Given the description of an element on the screen output the (x, y) to click on. 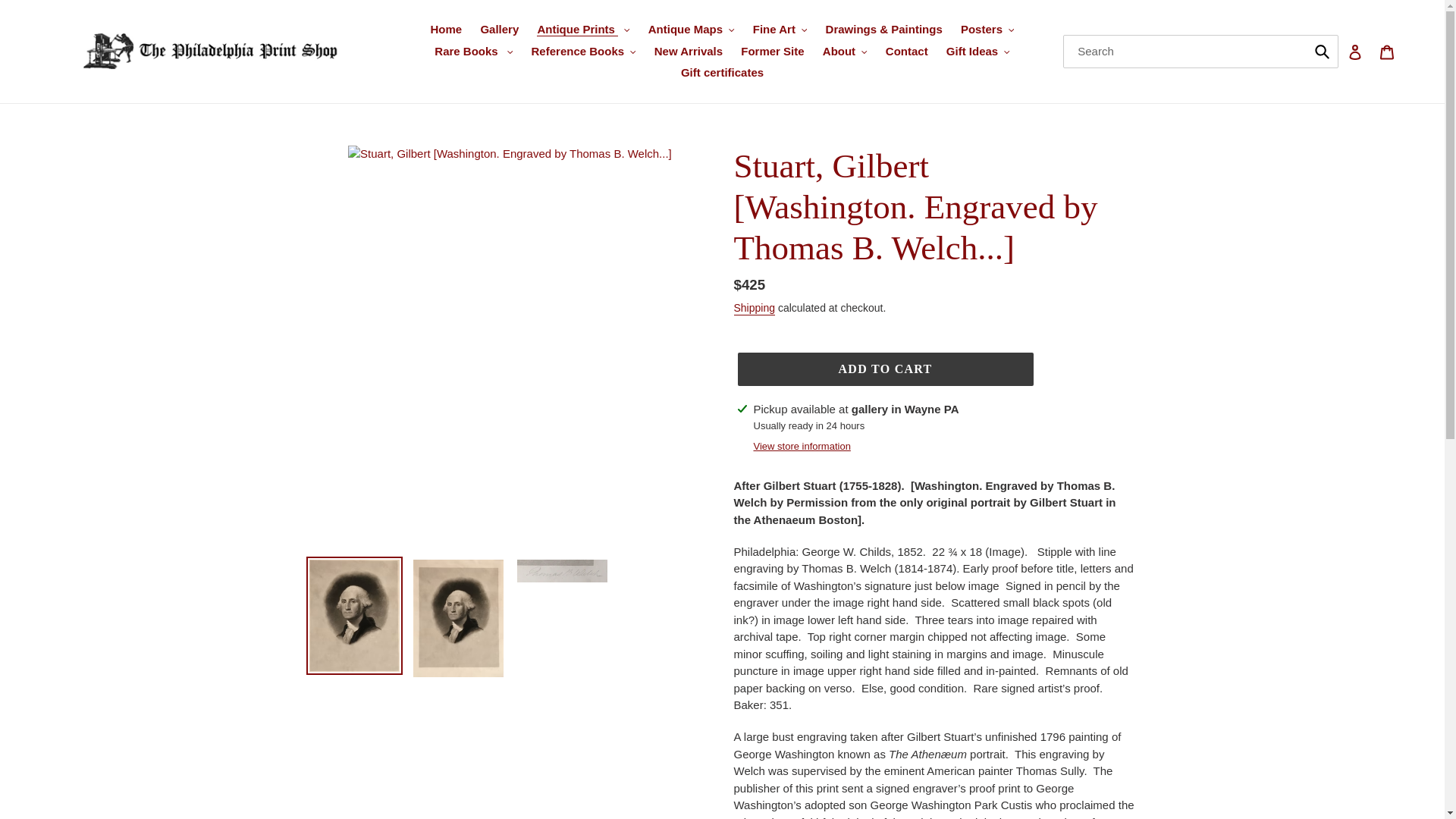
Home (446, 29)
Antique Prints (583, 29)
Gallery (498, 29)
